Given the description of an element on the screen output the (x, y) to click on. 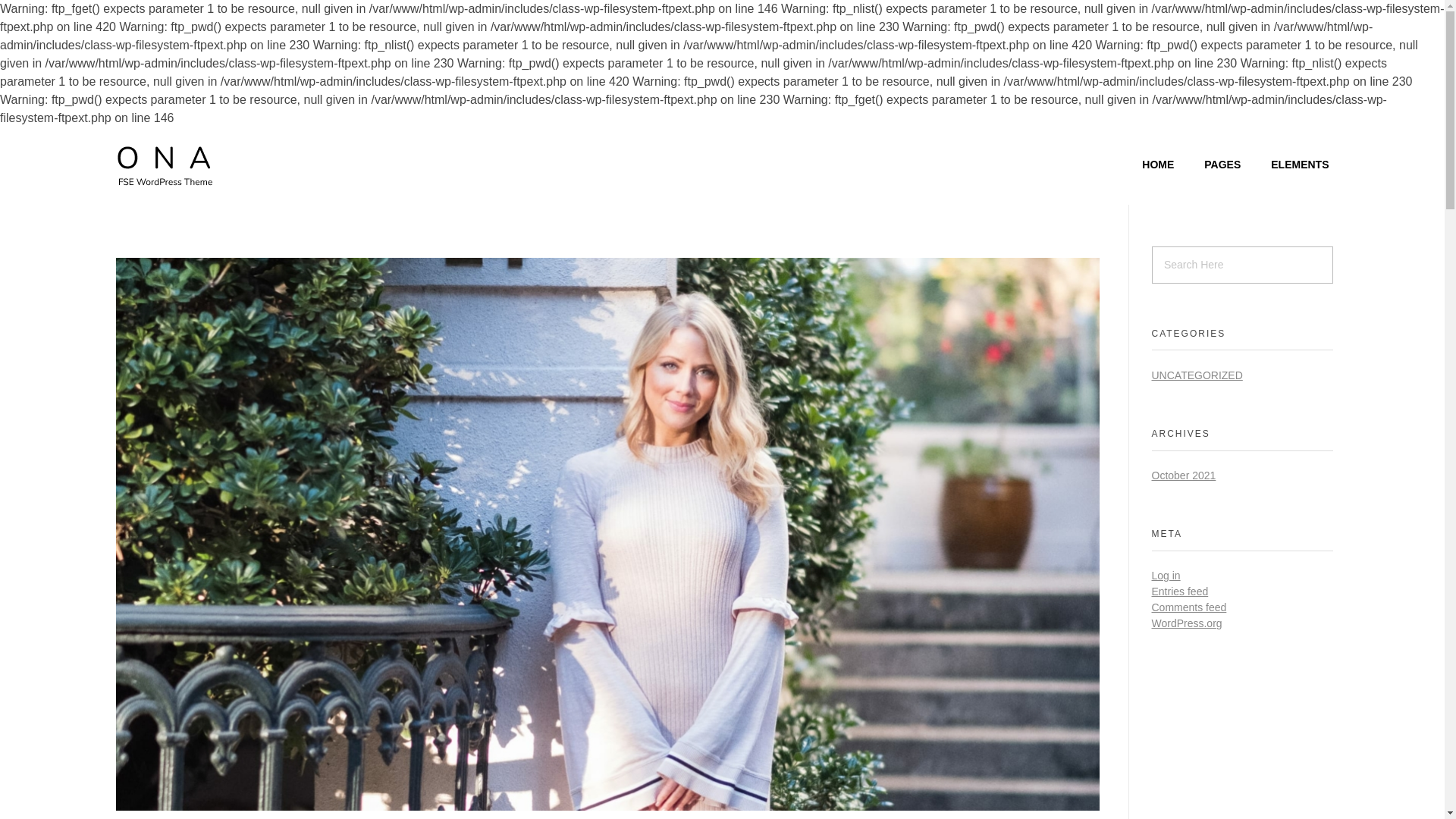
Search (42, 13)
ELEMENTS (1283, 164)
BMS Society (170, 196)
October 2021 (1183, 475)
Comments feed (1188, 607)
Log in (1165, 575)
BMS Society (170, 196)
Entries feed (1179, 591)
UNCATEGORIZED (1196, 375)
BMS Society (163, 163)
WordPress.org (1186, 623)
PAGES (1206, 164)
HOME (1142, 164)
